Given the description of an element on the screen output the (x, y) to click on. 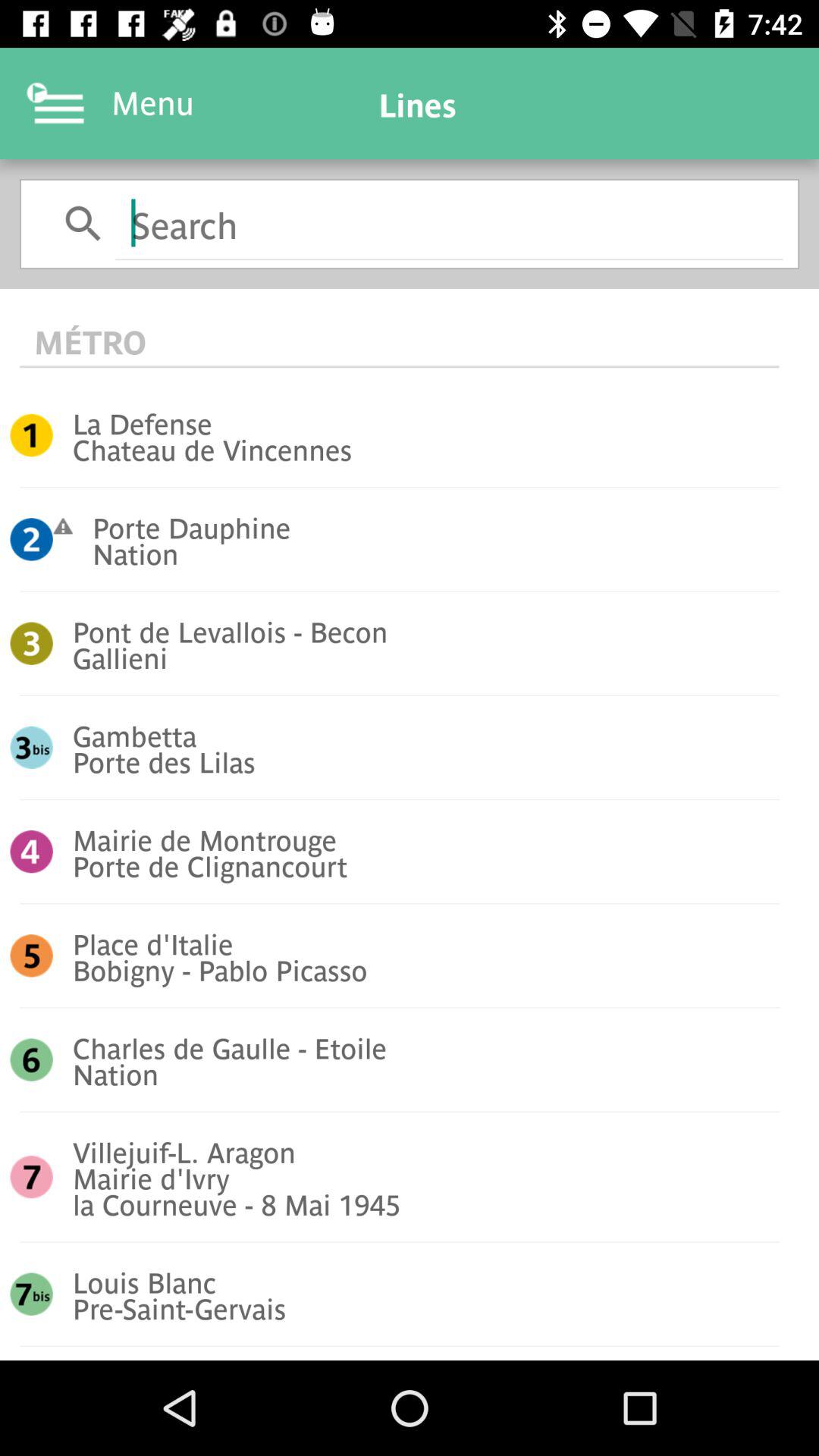
search (449, 222)
